Given the description of an element on the screen output the (x, y) to click on. 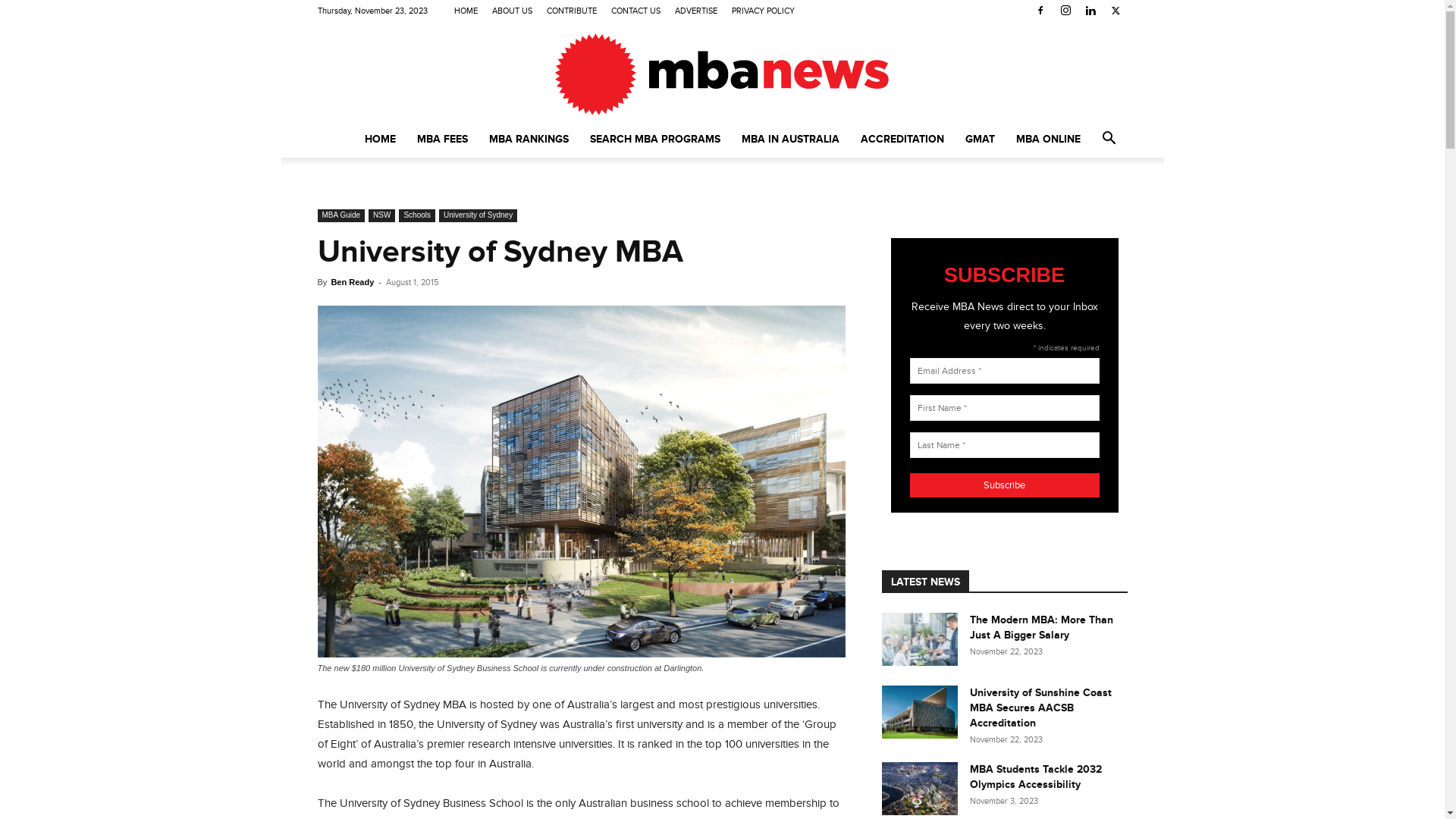
MBA RANKINGS Element type: text (527, 139)
Twitter Element type: hover (1115, 10)
MBA FEES Element type: text (442, 139)
Search Element type: text (1086, 200)
MBA Students Tackle 2032 Olympics Accessibility Element type: text (1035, 776)
The Modern MBA: More Than Just A Bigger Salary Element type: hover (919, 638)
PRIVACY POLICY Element type: text (762, 10)
HOME Element type: text (379, 139)
MBA IN AUSTRALIA Element type: text (790, 139)
Ben Ready Element type: text (351, 281)
Instagram Element type: hover (1065, 10)
MBA Guide Element type: text (340, 215)
University of Sunshine Coast MBA Secures AACSB Accreditation Element type: hover (919, 711)
MBA ONLINE Element type: text (1048, 139)
The Modern MBA: More Than Just A Bigger Salary Element type: text (1040, 627)
Subscribe Element type: text (1004, 485)
CONTRIBUTE Element type: text (571, 10)
ACCREDITATION Element type: text (901, 139)
ABOUT US Element type: text (512, 10)
University of Sunshine Coast MBA Secures AACSB Accreditation Element type: text (1039, 707)
HOME Element type: text (465, 10)
University of Sydney Element type: text (478, 215)
Linkedin Element type: hover (1090, 10)
GMAT Element type: text (978, 139)
ADVERTISE Element type: text (695, 10)
SEARCH MBA PROGRAMS Element type: text (655, 139)
MBA News Australia Element type: text (721, 73)
CONTACT US Element type: text (635, 10)
Schools Element type: text (416, 215)
NSW Element type: text (381, 215)
Facebook Element type: hover (1040, 10)
MBA Students Tackle 2032 Olympics Accessibility Element type: hover (919, 788)
